Given the description of an element on the screen output the (x, y) to click on. 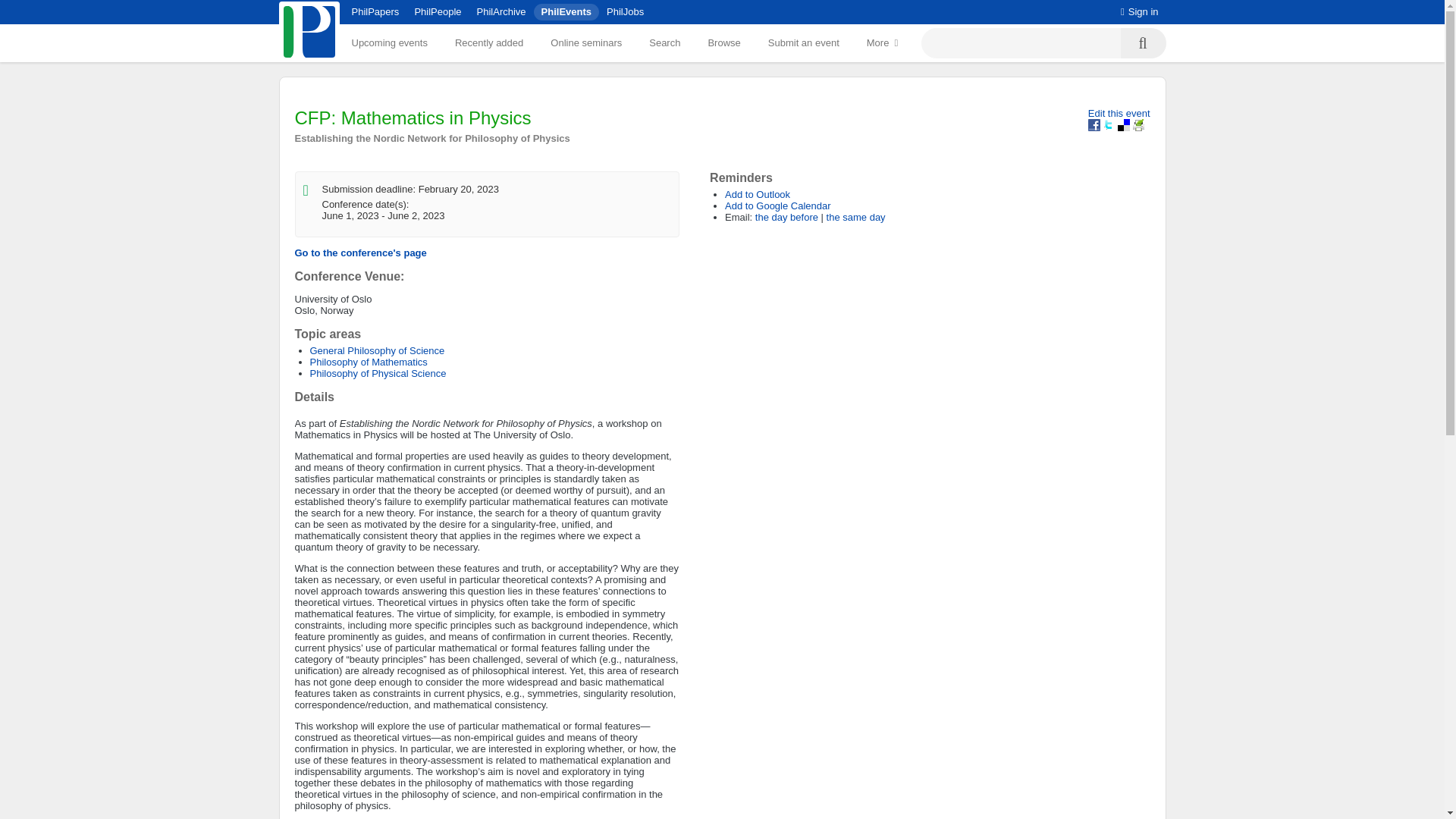
Upcoming events (389, 42)
PhilPapers (375, 11)
Search (665, 42)
Submit an event (803, 42)
PhilEvents (566, 11)
Edit this event (1118, 112)
Twitter (1108, 124)
Sign in (1139, 11)
Print Friendly (1138, 124)
Delicious (1123, 124)
Browse (723, 42)
Go to the conference's page (360, 252)
Establishing the Nordic Network for Philosophy of Physics (431, 138)
More   (882, 42)
General Philosophy of Science (376, 350)
